Given the description of an element on the screen output the (x, y) to click on. 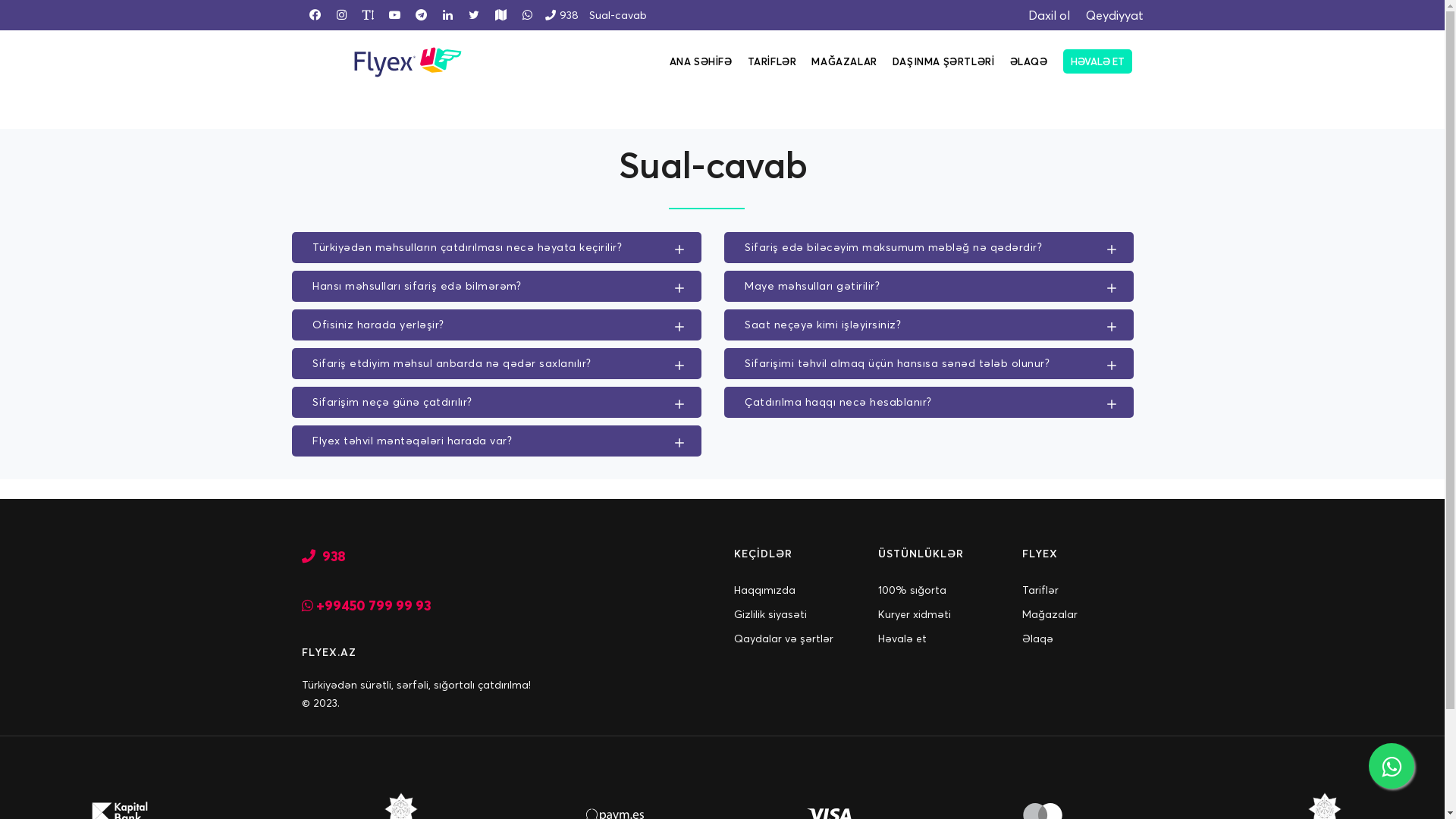
Sual-cavab Element type: text (617, 14)
938 Element type: text (323, 568)
Qeydiyyat Element type: text (1107, 15)
Daxil ol Element type: text (1041, 15)
938 Element type: text (558, 11)
+99450 799 99 93 Element type: text (365, 618)
